Given the description of an element on the screen output the (x, y) to click on. 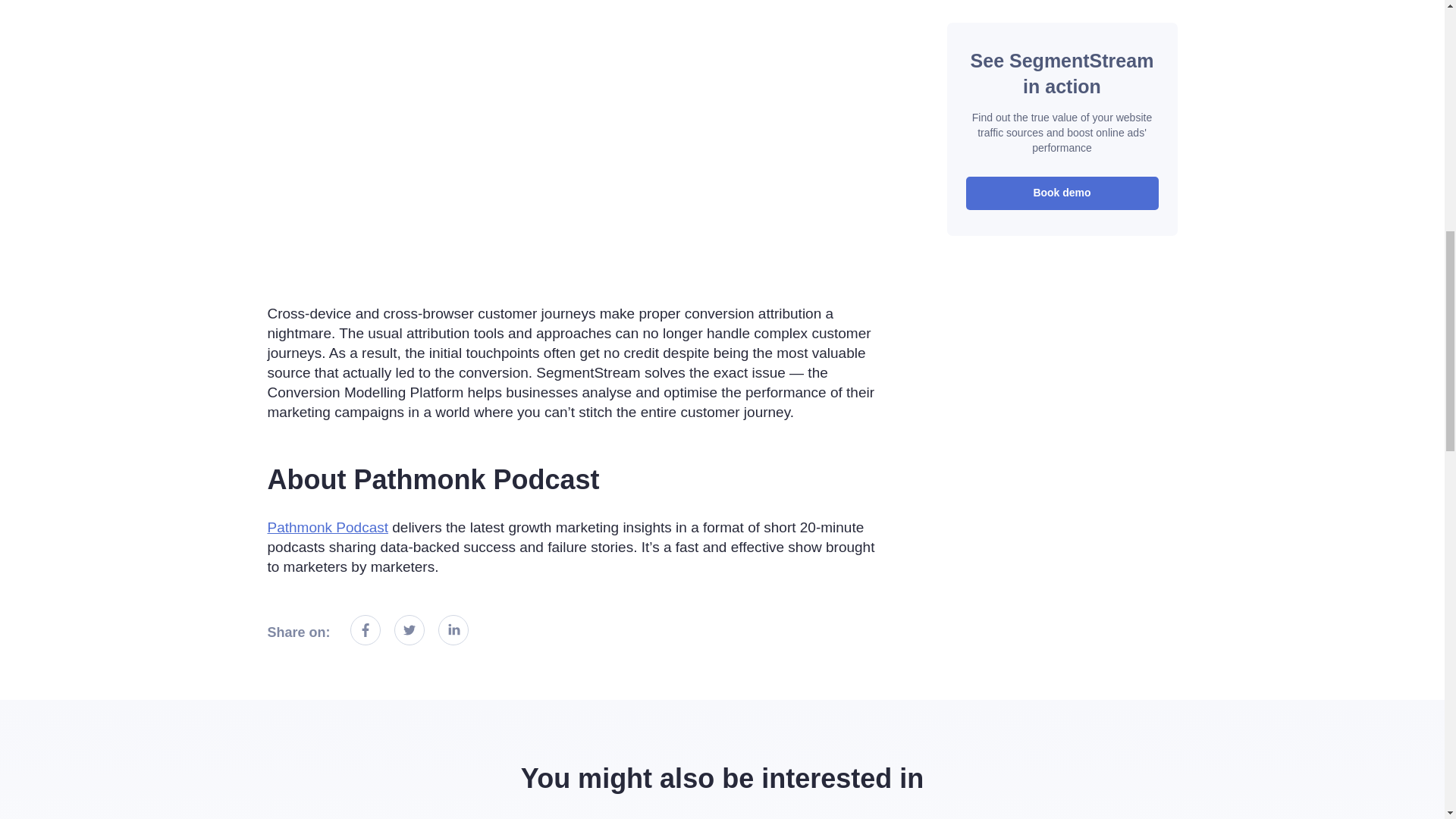
Tweet (409, 630)
Share on Facebook (365, 630)
Share on LinkedIn (453, 630)
